Given the description of an element on the screen output the (x, y) to click on. 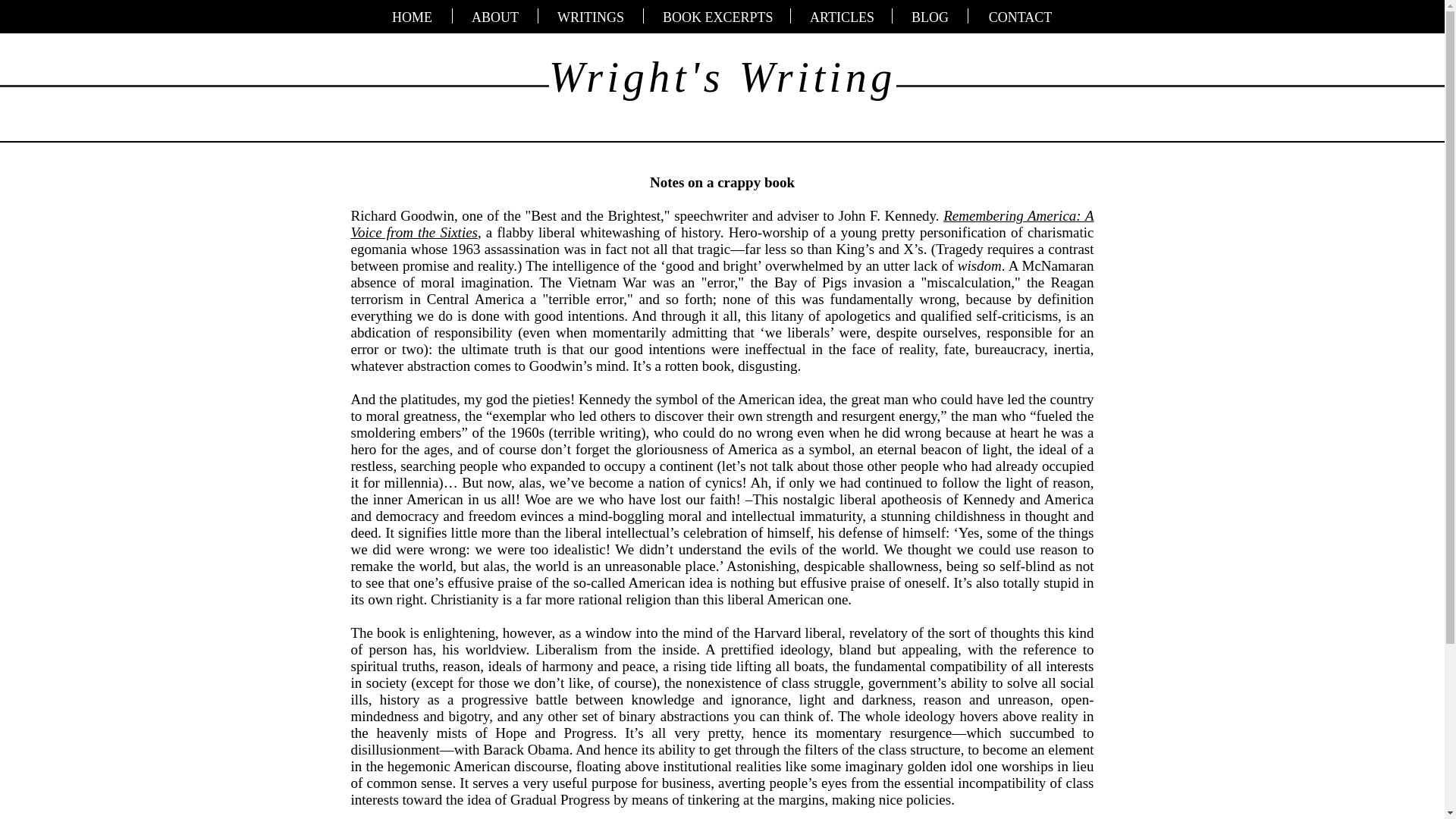
BLOG (930, 15)
ABOUT (494, 15)
WRITINGS (590, 15)
Remembering America: A Voice from the Sixties (721, 224)
HOME (411, 15)
CONTACT (1019, 15)
ARTICLES (840, 15)
BOOK EXCERPTS (716, 15)
